Given the description of an element on the screen output the (x, y) to click on. 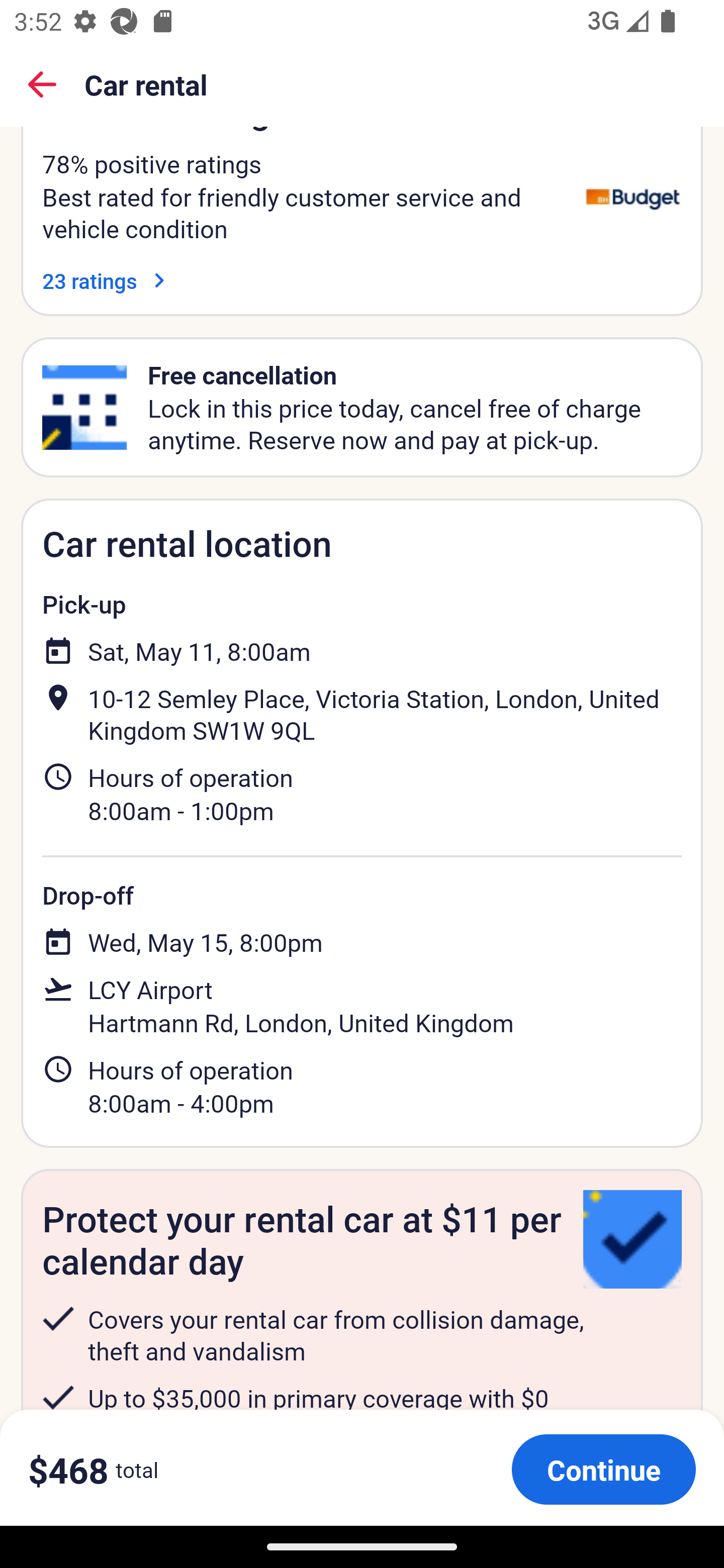
Go back to car rental search results (42, 84)
23 ratings 23 ratings Link (107, 280)
Continue (603, 1468)
